Given the description of an element on the screen output the (x, y) to click on. 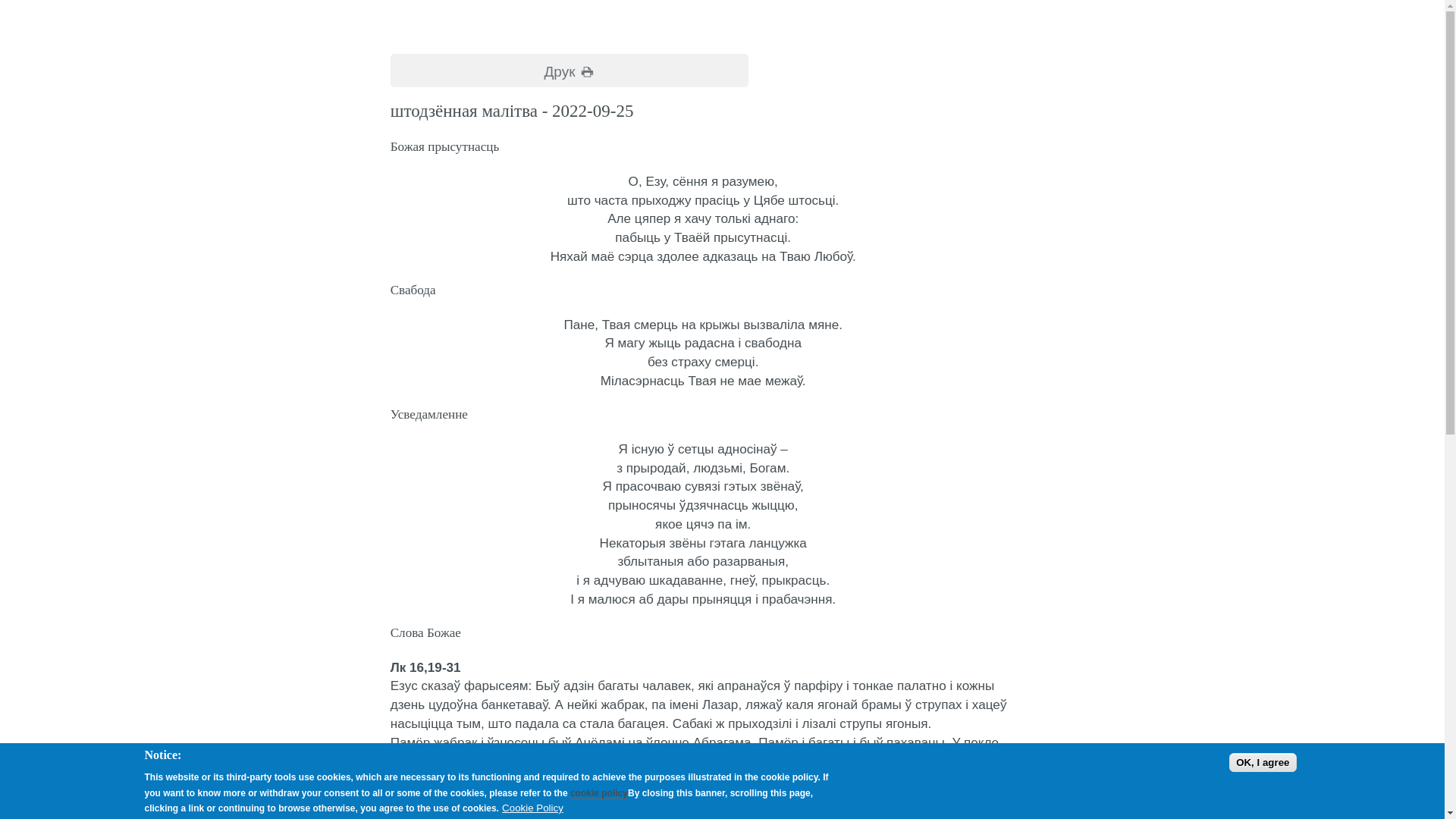
Jump to navigation Element type: text (25, 0)
Cookie Policy Element type: text (532, 807)
OK, I agree Element type: text (1262, 762)
cookie policy Element type: text (598, 792)
